Given the description of an element on the screen output the (x, y) to click on. 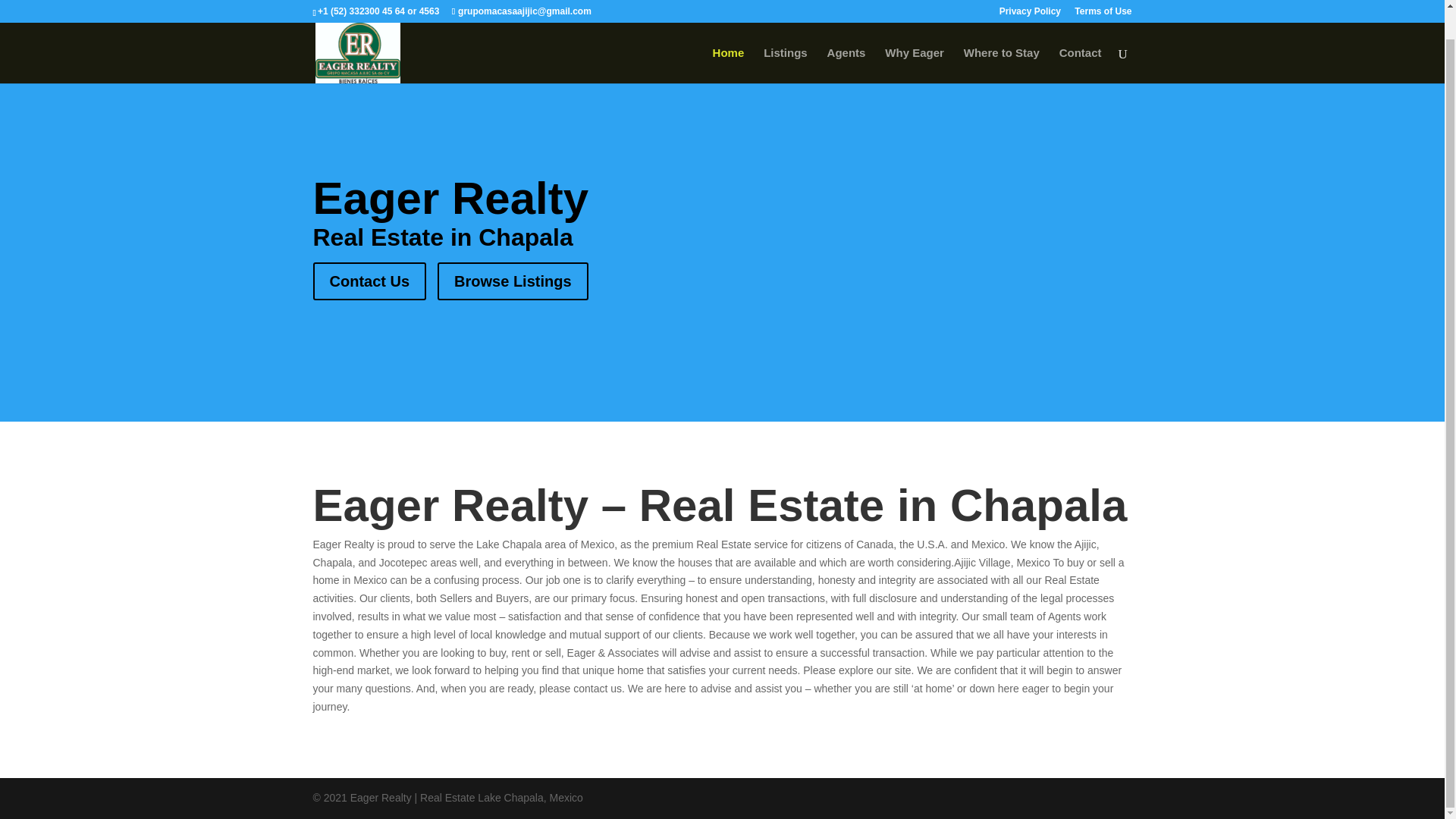
Where to Stay (1001, 36)
Listings (785, 36)
Why Eager (914, 36)
Browse Listings (513, 281)
Contact (1080, 36)
Agents (846, 36)
Home (728, 36)
Contact Us (369, 281)
